Given the description of an element on the screen output the (x, y) to click on. 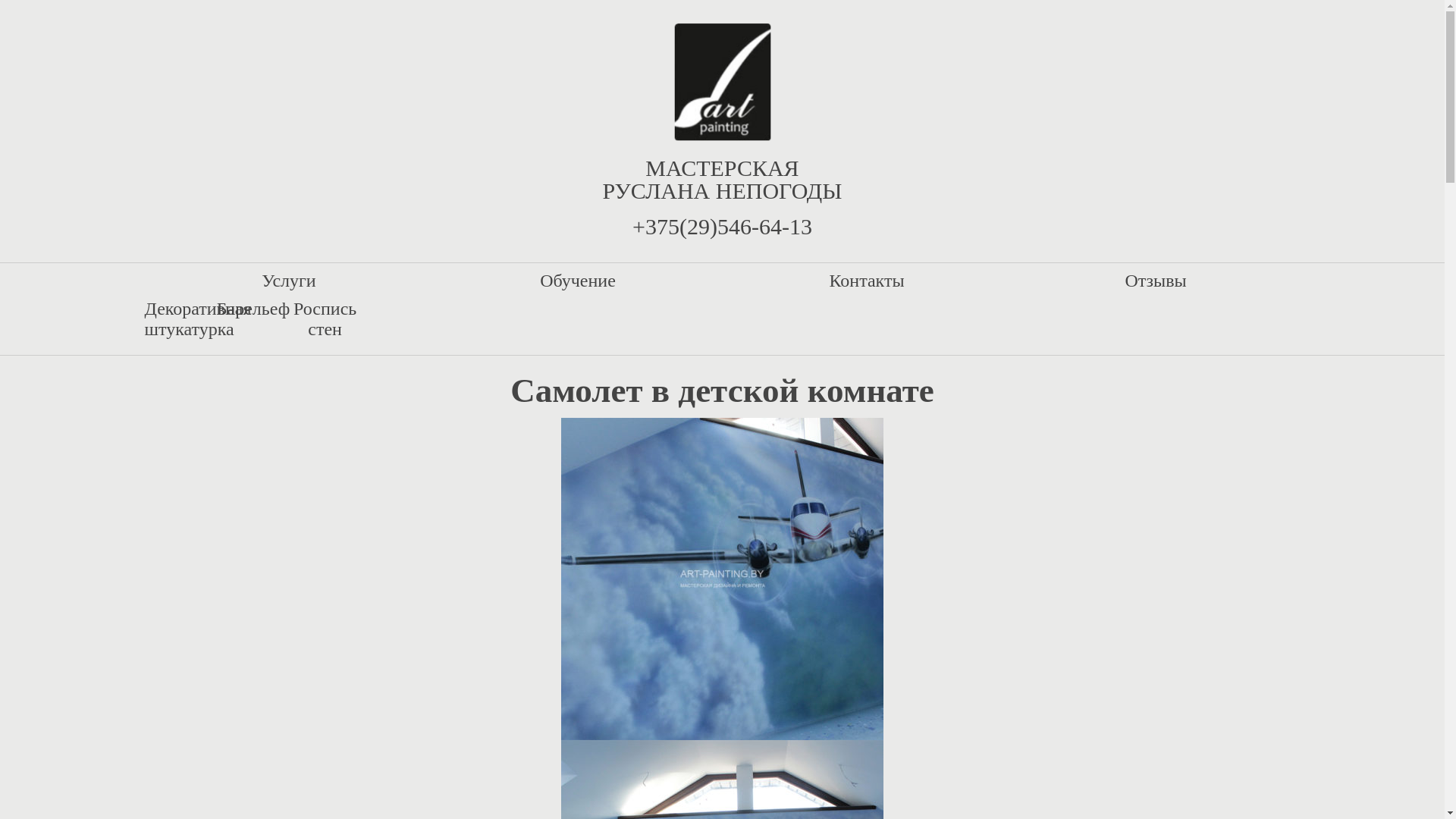
+375(29)546-64-13 Element type: text (722, 225)
